Given the description of an element on the screen output the (x, y) to click on. 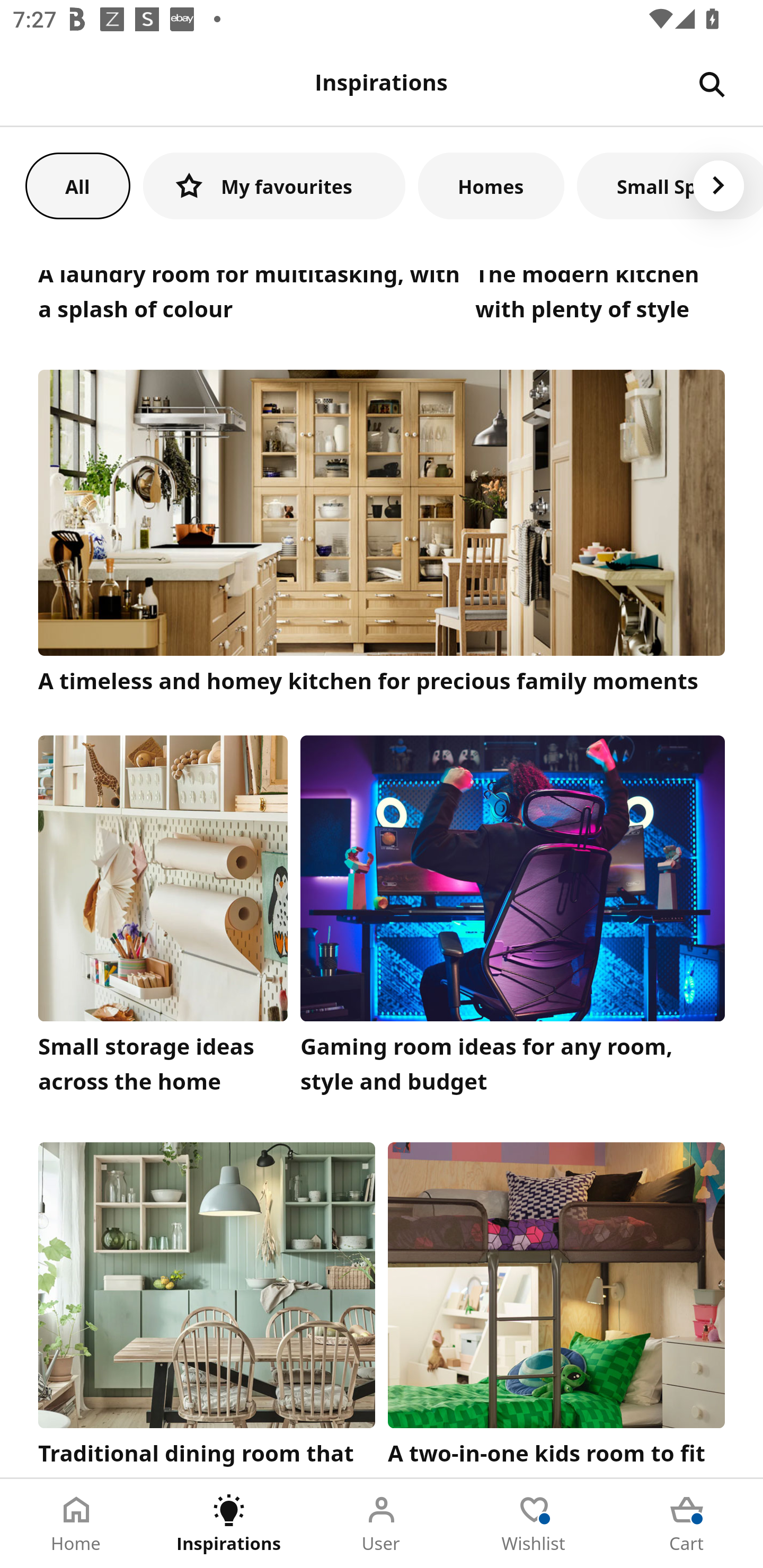
All (77, 185)
My favourites (274, 185)
Homes (491, 185)
The modern kitchen with plenty of style (599, 299)
Small storage ideas across the home (162, 919)
Gaming room ideas for any room, style and budget (512, 919)
Home
Tab 1 of 5 (76, 1522)
Inspirations
Tab 2 of 5 (228, 1522)
User
Tab 3 of 5 (381, 1522)
Wishlist
Tab 4 of 5 (533, 1522)
Cart
Tab 5 of 5 (686, 1522)
